Given the description of an element on the screen output the (x, y) to click on. 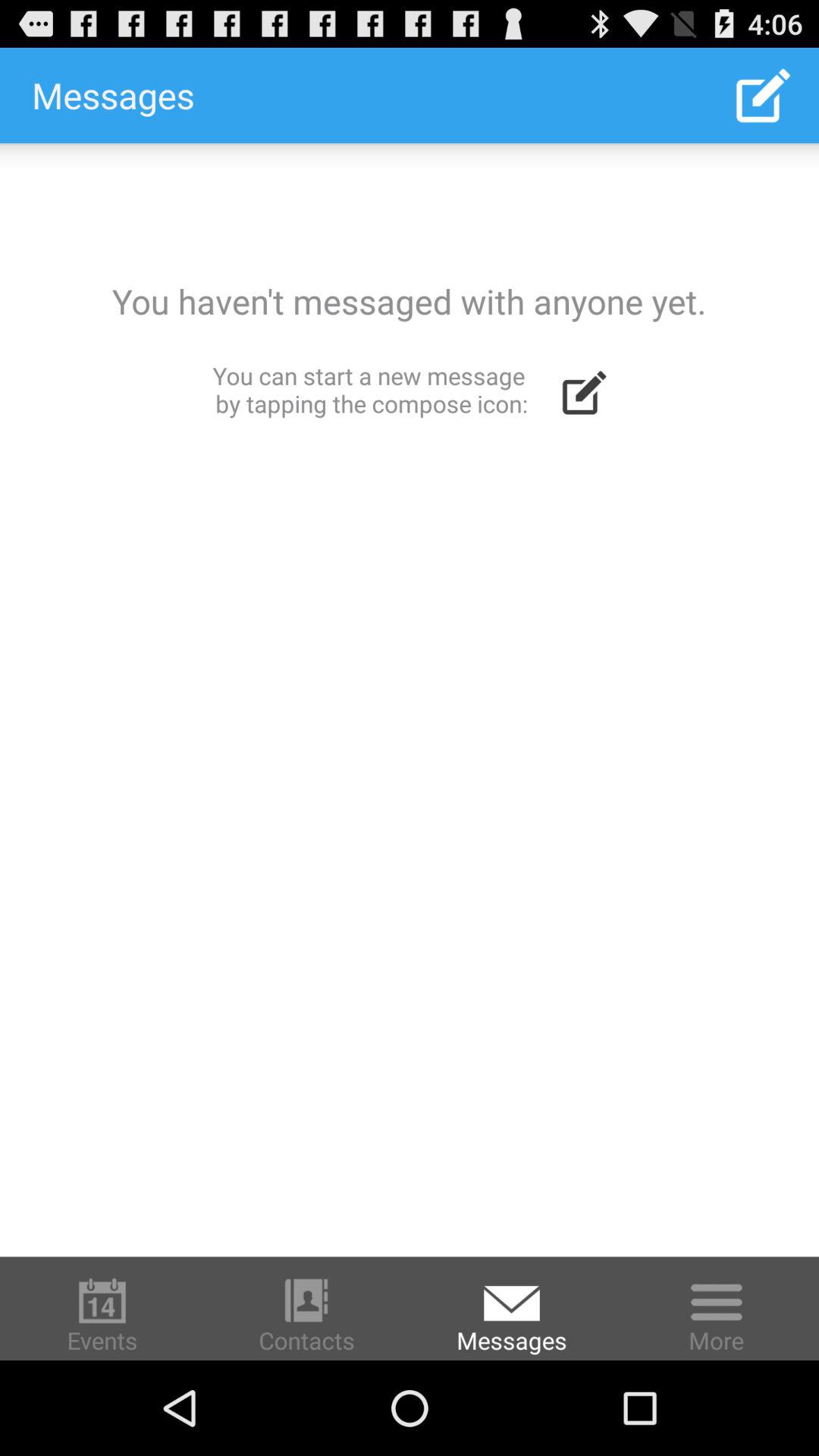
write message (409, 699)
